Given the description of an element on the screen output the (x, y) to click on. 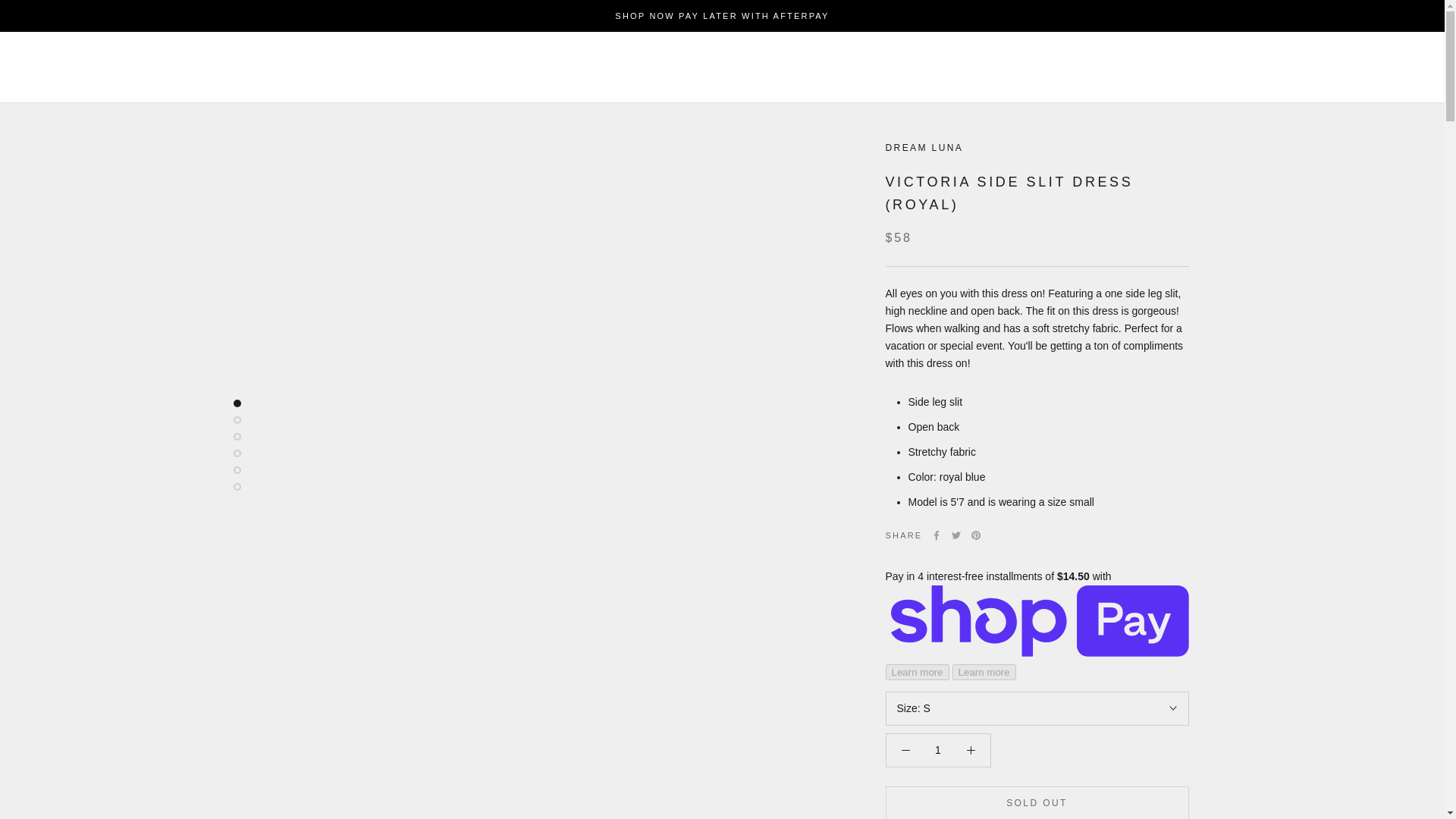
1 (938, 749)
